Given the description of an element on the screen output the (x, y) to click on. 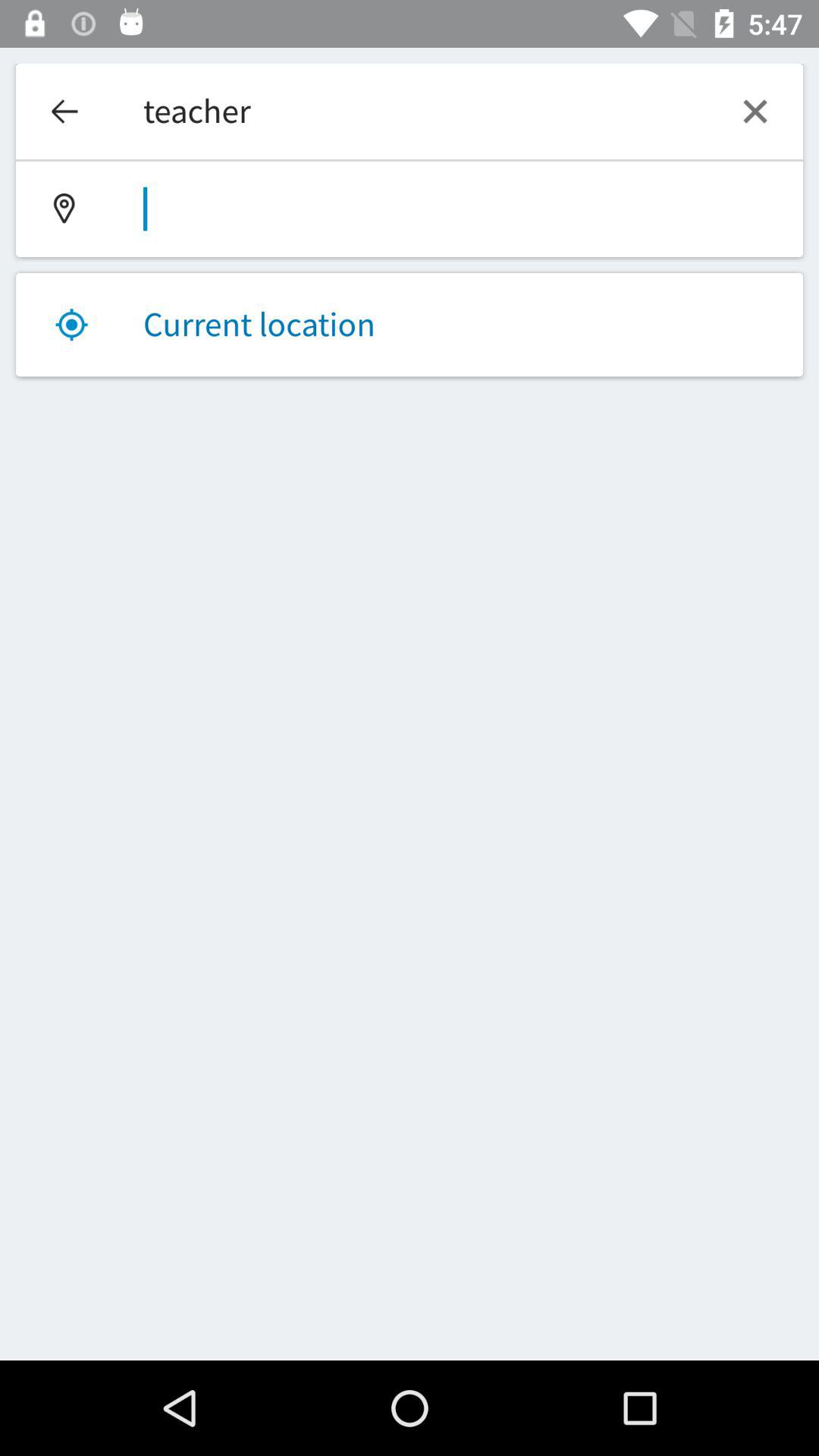
open the current location item (409, 324)
